Given the description of an element on the screen output the (x, y) to click on. 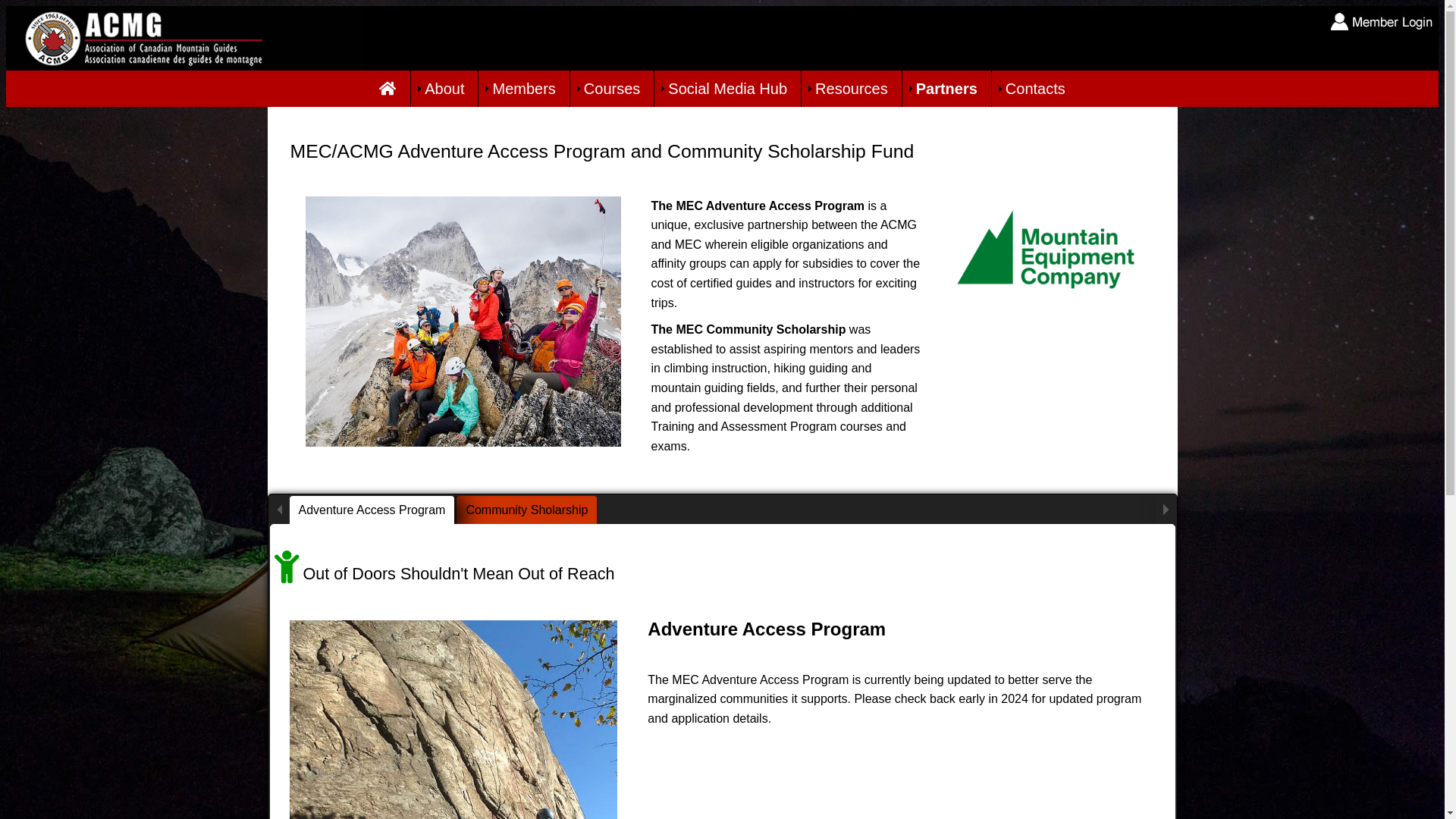
Members Element type: text (522, 88)
Community Sholarship Element type: text (526, 509)
Courses Element type: text (611, 88)
About Element type: text (443, 88)
Social Media Hub Element type: text (726, 88)
Partners Element type: text (946, 88)
Adventure Access Program Element type: text (372, 509)
Contacts Element type: text (1035, 88)
Resources Element type: text (850, 88)
